Given the description of an element on the screen output the (x, y) to click on. 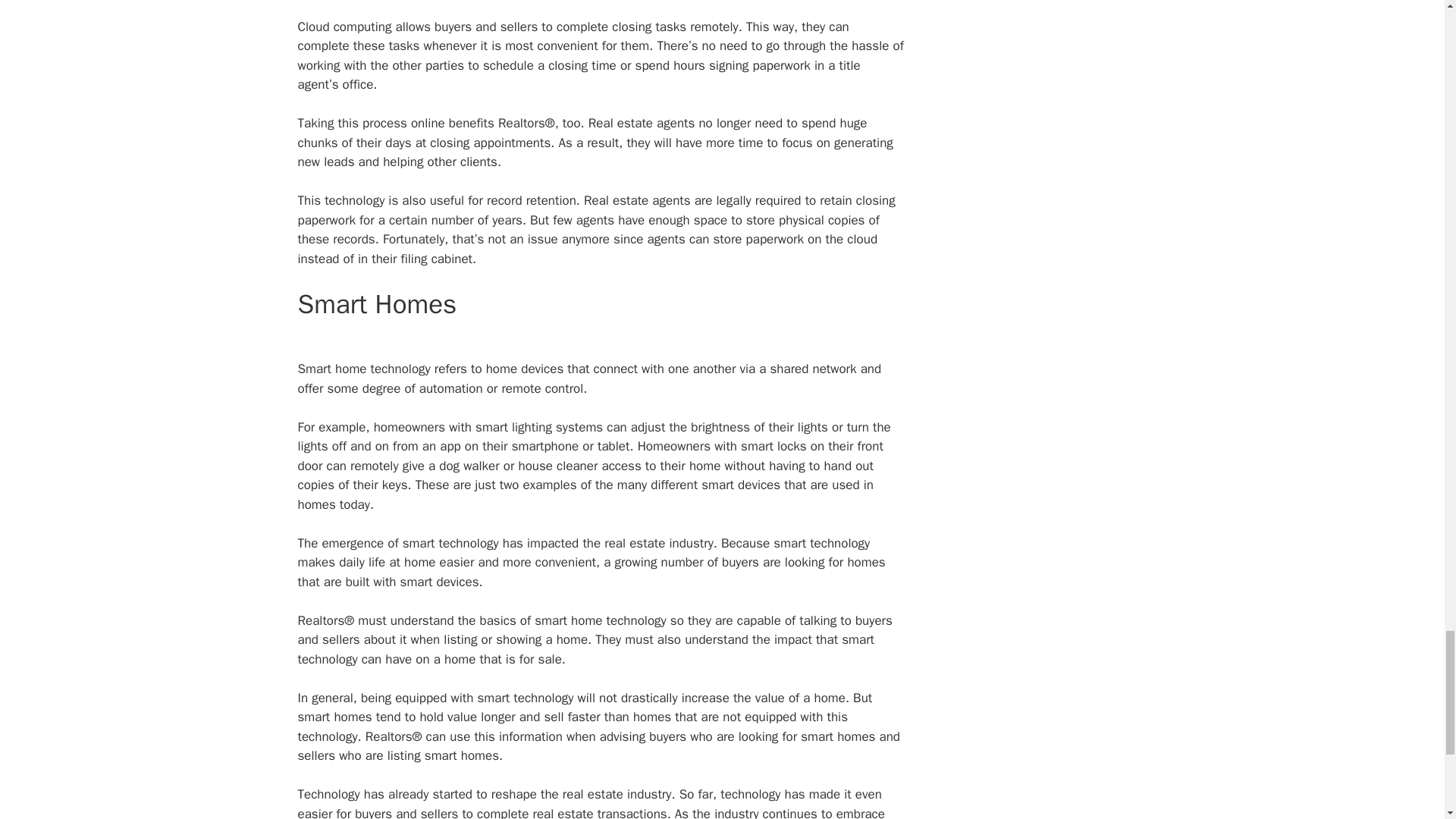
smart homes (334, 716)
